Given the description of an element on the screen output the (x, y) to click on. 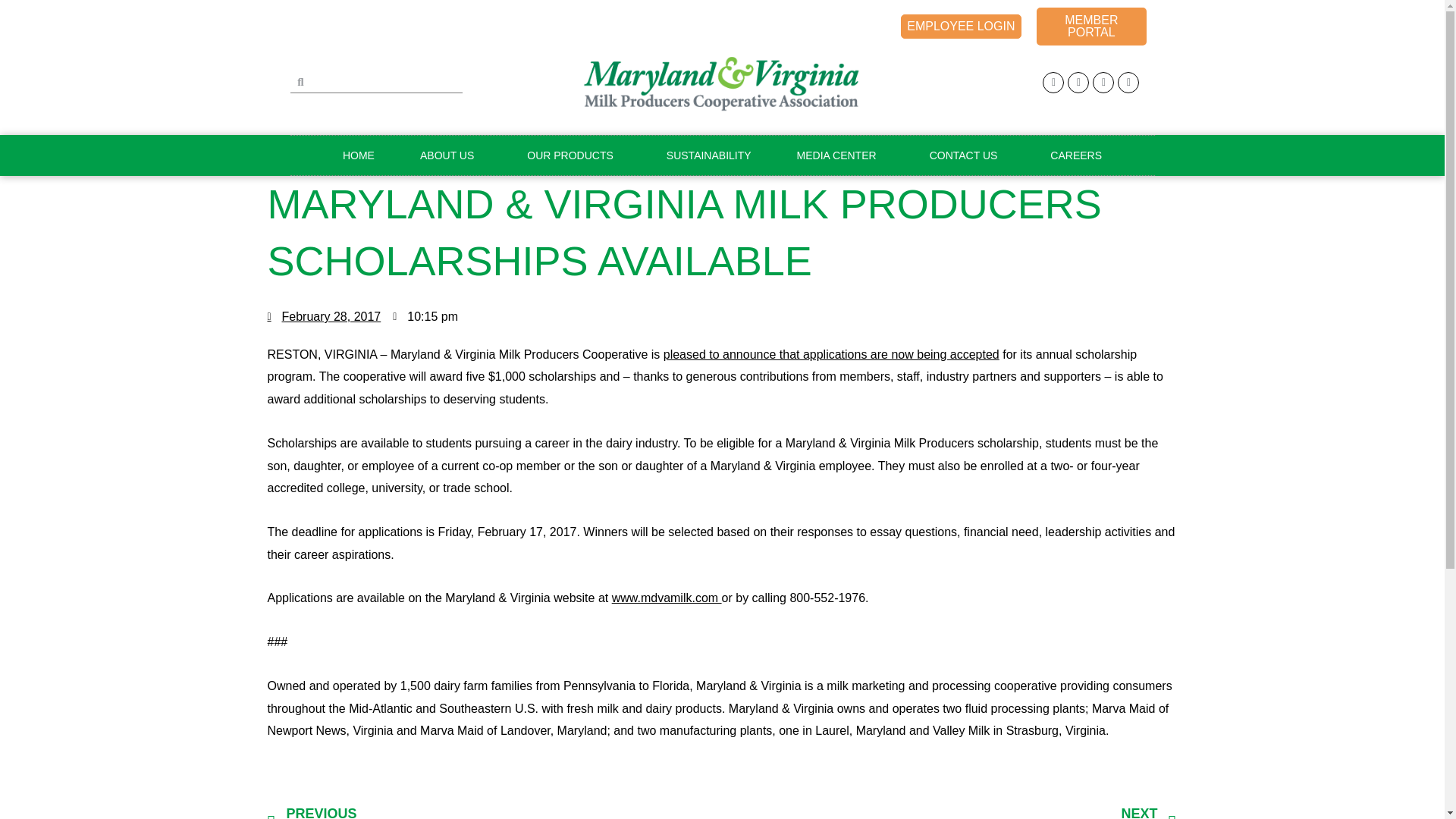
SUSTAINABILITY (708, 155)
Youtube (1103, 82)
ABOUT US (450, 155)
MEDIA CENTER (840, 155)
HOME (358, 155)
EMPLOYEE LOGIN (960, 26)
OUR PRODUCTS (573, 155)
Instagram (1078, 82)
CONTACT US (967, 155)
MEMBER PORTAL (1091, 26)
Facebook-f (1053, 82)
Linkedin (1128, 82)
CAREERS (1075, 155)
